Given the description of an element on the screen output the (x, y) to click on. 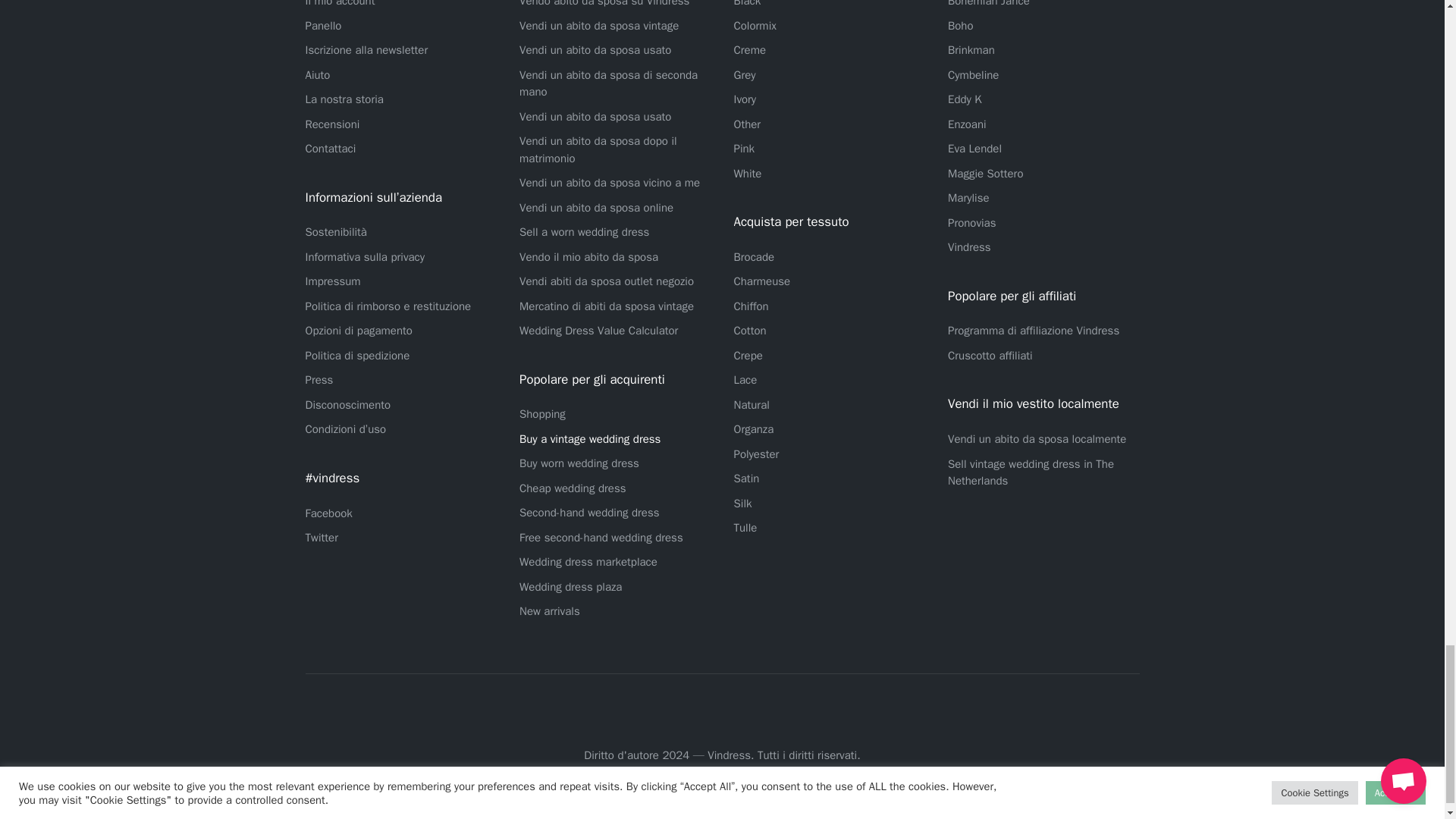
Sell a wedding dress online (595, 207)
Seller Dashboard (322, 25)
Sell your own wedding dress (588, 256)
Vintage wedding dress marketplace (606, 305)
Sell a wedding dress near me (609, 182)
Sell worn wedding dress (584, 232)
Sustainability (335, 232)
Sell a preowned wedding dress (595, 49)
Sell a second hand wedding dress (608, 83)
Sell a used wedding dress (595, 116)
Sell a vintage wedding dress (598, 25)
Sell wedding dress after wedding (598, 149)
Vindress Newsletter (366, 49)
